Given the description of an element on the screen output the (x, y) to click on. 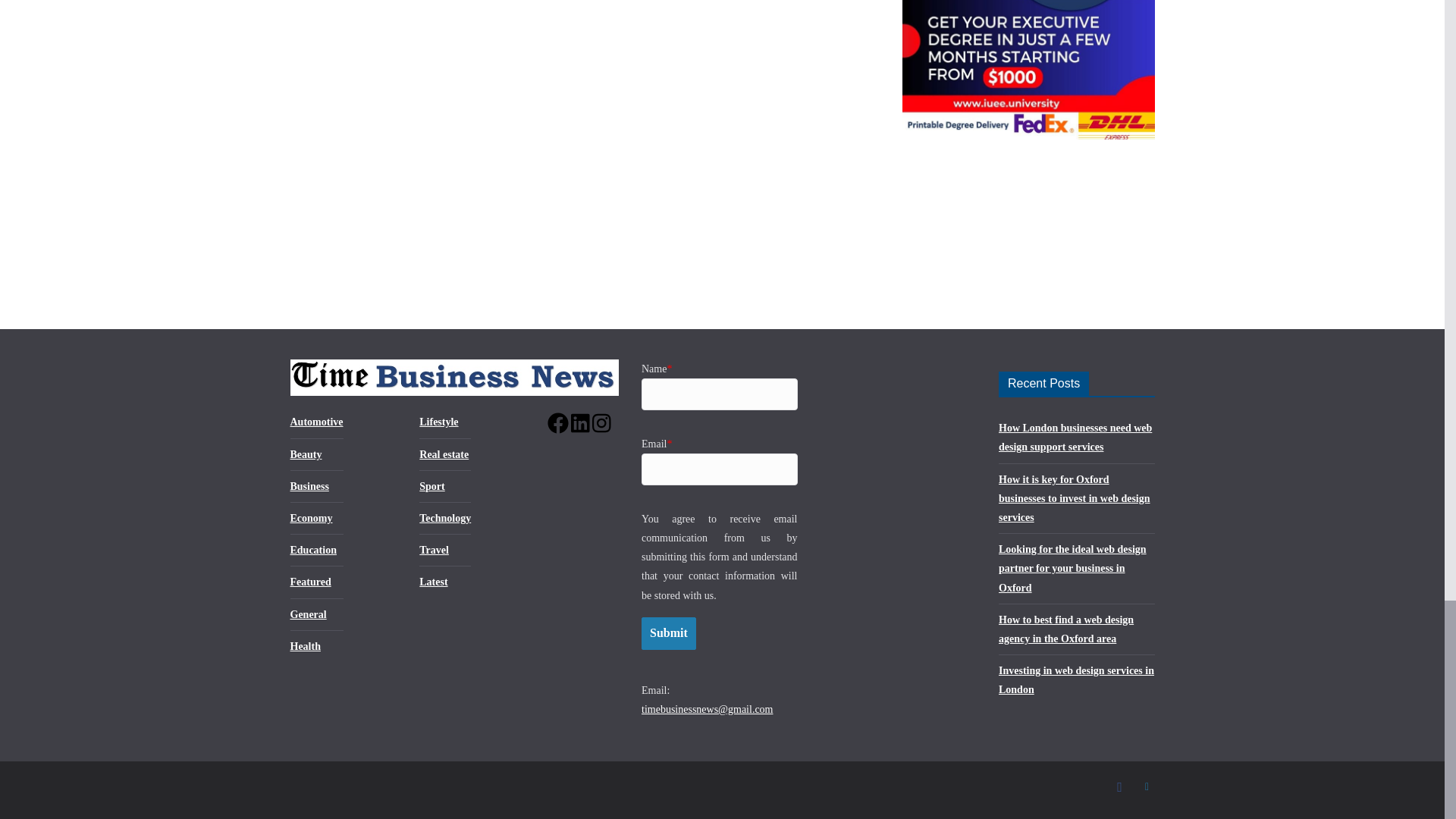
Business (309, 486)
Automotive (315, 421)
Beauty (305, 454)
